Given the description of an element on the screen output the (x, y) to click on. 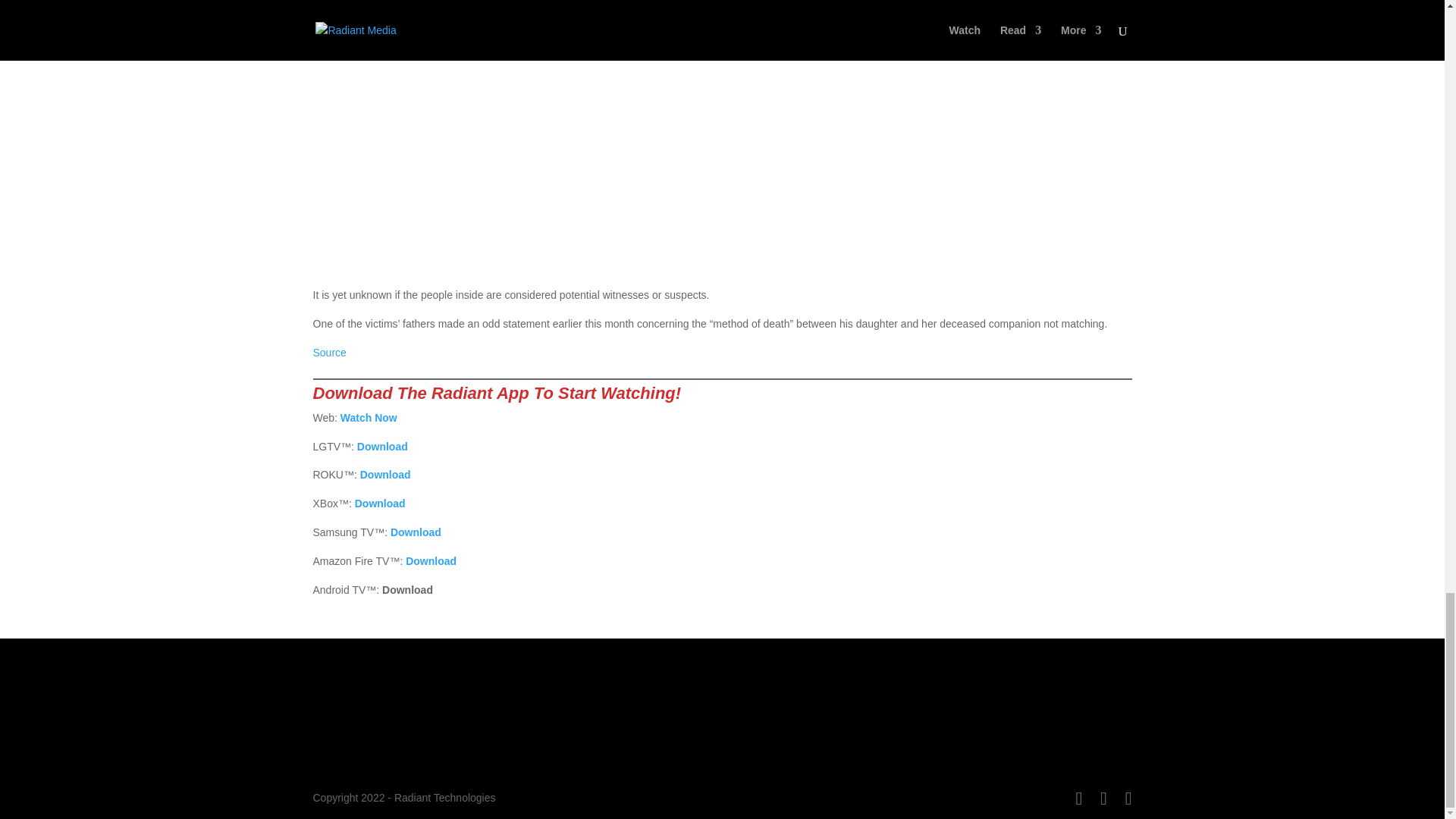
Watch Now (368, 417)
Source (329, 352)
Download (384, 474)
Download (380, 503)
Download (381, 446)
Download (415, 532)
Download (431, 561)
